Given the description of an element on the screen output the (x, y) to click on. 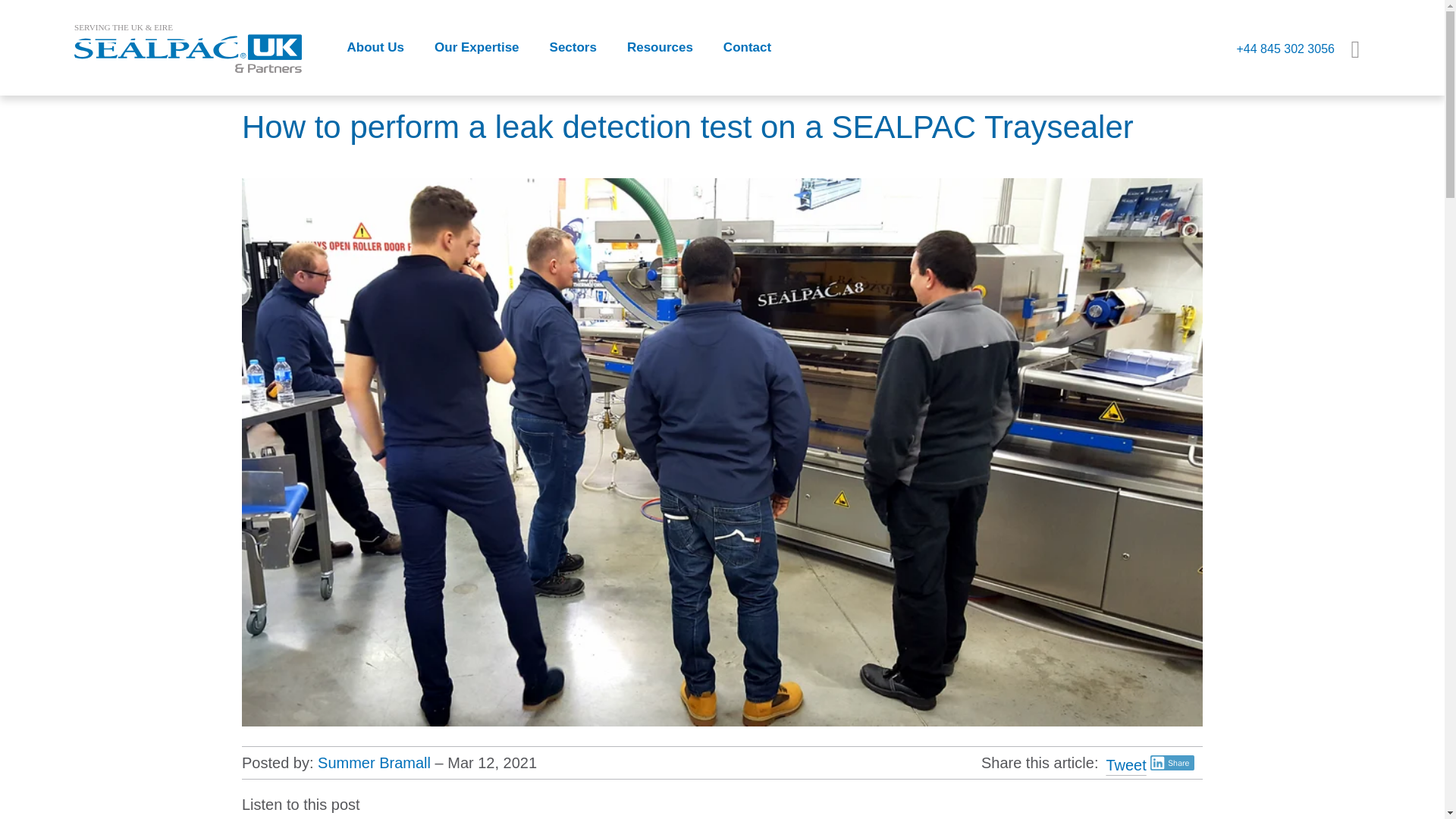
Sectors (573, 47)
About Us (375, 47)
Our Expertise (476, 47)
